Given the description of an element on the screen output the (x, y) to click on. 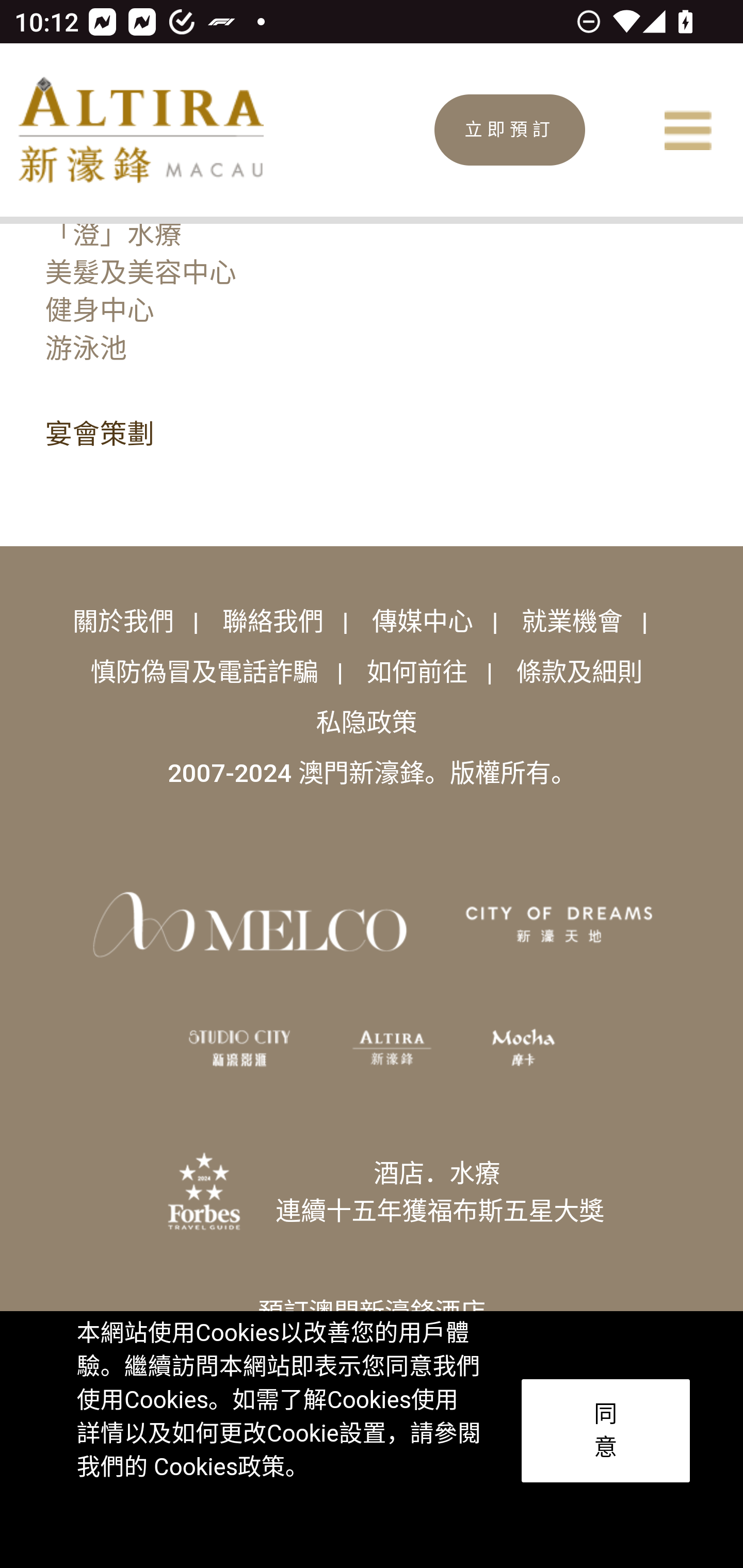
Logo (140, 129)
ico_menu (687, 130)
立即預訂 (509, 130)
「澄」水療 (112, 234)
美髮及美容中心 (140, 272)
健身中心 (99, 311)
游泳池 (85, 349)
宴會策劃 (99, 438)
關於我們  (126, 621)
聯絡我們  (275, 621)
傳媒中心  (426, 621)
就業機會  (575, 621)
慎防偽冒及電話詐騙  (207, 671)
如何前往  (419, 671)
條款及細則 (579, 671)
私隐政策 (366, 722)
新濠旗下成員 (249, 924)
COD macau footer logo (559, 924)
Studio City Macau (239, 1048)
Altira footer logo (391, 1048)
Mocha club logo (524, 1048)
同意 (605, 1431)
Cookies政策 (218, 1467)
